Given the description of an element on the screen output the (x, y) to click on. 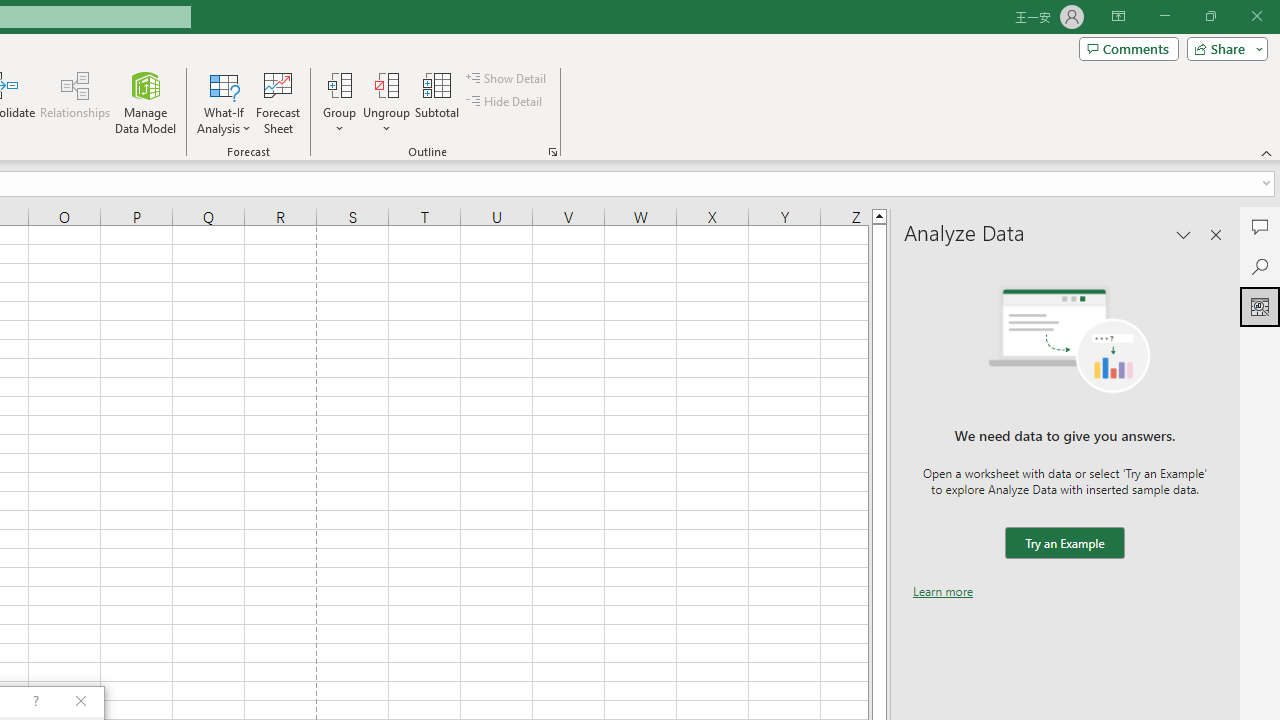
Search (1260, 266)
Restore Down (1210, 16)
Collapse the Ribbon (1267, 152)
Subtotal (437, 102)
Learn more (943, 591)
Analyze Data (1260, 306)
Show Detail (507, 78)
Group... (339, 102)
Manage Data Model (145, 102)
Relationships (75, 102)
